Given the description of an element on the screen output the (x, y) to click on. 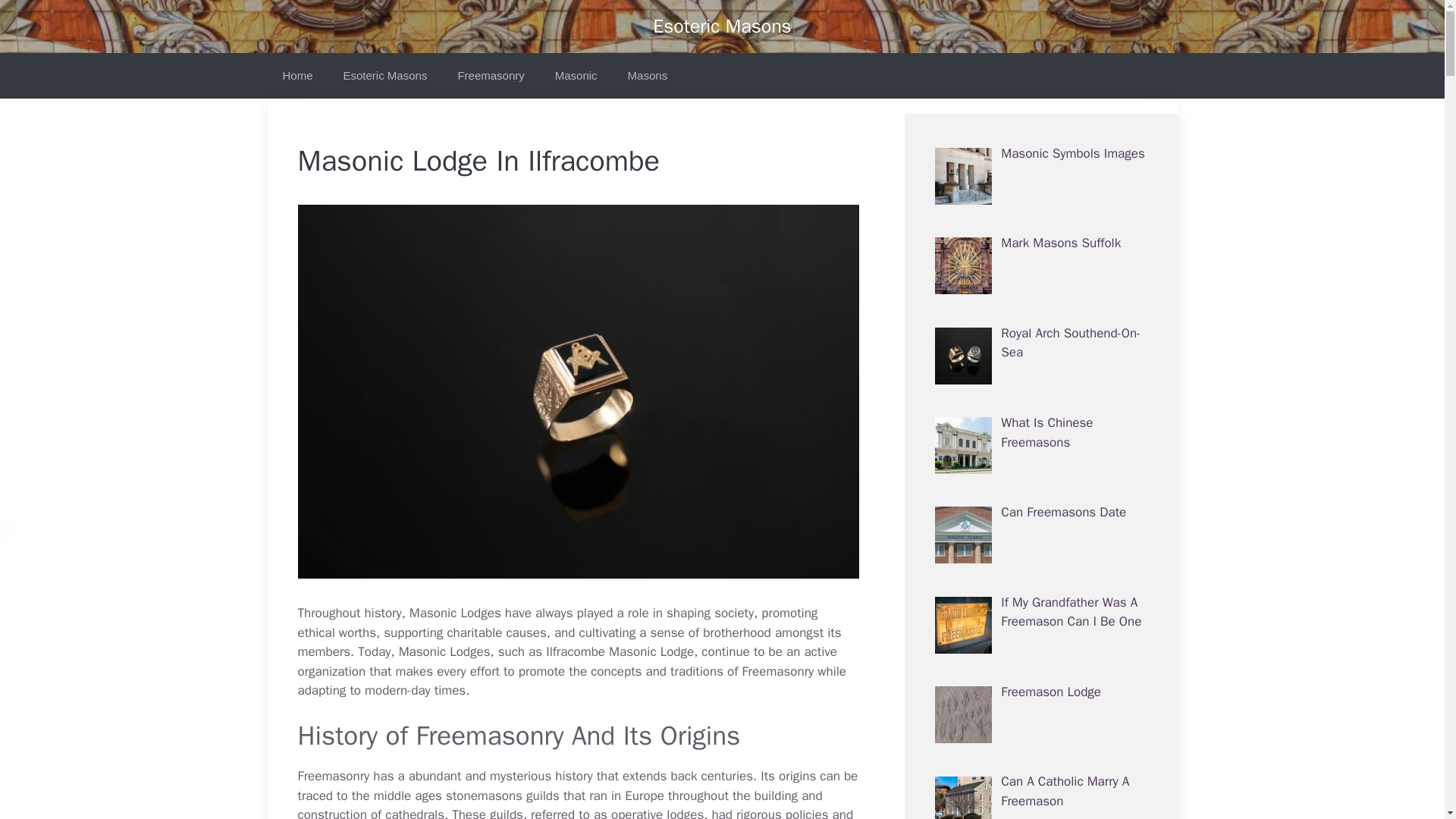
Can A Catholic Marry A Freemason (1065, 791)
Esoteric Masons (385, 75)
What Is Chinese Freemasons (1047, 432)
Masonic (576, 75)
Esoteric Masons (721, 25)
Royal Arch Southend-On-Sea (1070, 343)
Can Freemasons Date (1063, 512)
Freemasonry (490, 75)
Home (296, 75)
If My Grandfather Was A Freemason Can I Be One (1071, 611)
